Given the description of an element on the screen output the (x, y) to click on. 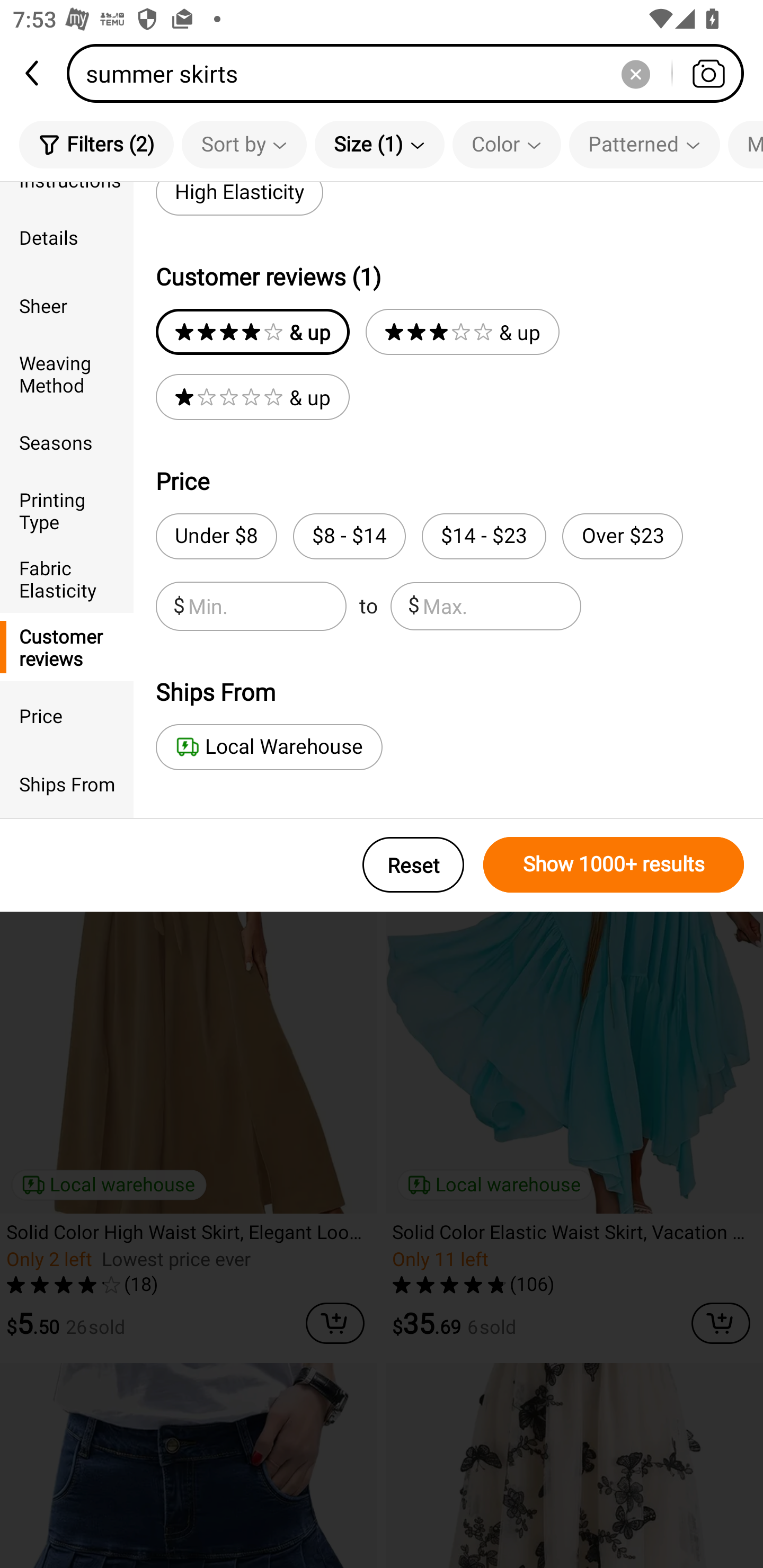
back (33, 72)
summer skirts (411, 73)
Delete search history (635, 73)
Search by photo (708, 73)
Filters (2) (96, 143)
Sort by (243, 143)
Size (1) (379, 143)
Color (506, 143)
Patterned (644, 143)
High Elasticity (239, 198)
Details (66, 236)
Sheer (66, 305)
& up (252, 331)
& up (462, 331)
Weaving Method (66, 373)
& up (252, 397)
Seasons (66, 441)
Printing Type (66, 510)
Under $8 (215, 535)
$8 - $14 (348, 535)
$14 - $23 (483, 535)
Over $23 (622, 535)
Fabric Elasticity (66, 578)
$ Min. to $ Max. (368, 605)
Customer reviews (66, 646)
Price (66, 714)
Local Warehouse (268, 746)
Ships From (66, 783)
Reset (412, 864)
Show 1000+ results (612, 864)
